Given the description of an element on the screen output the (x, y) to click on. 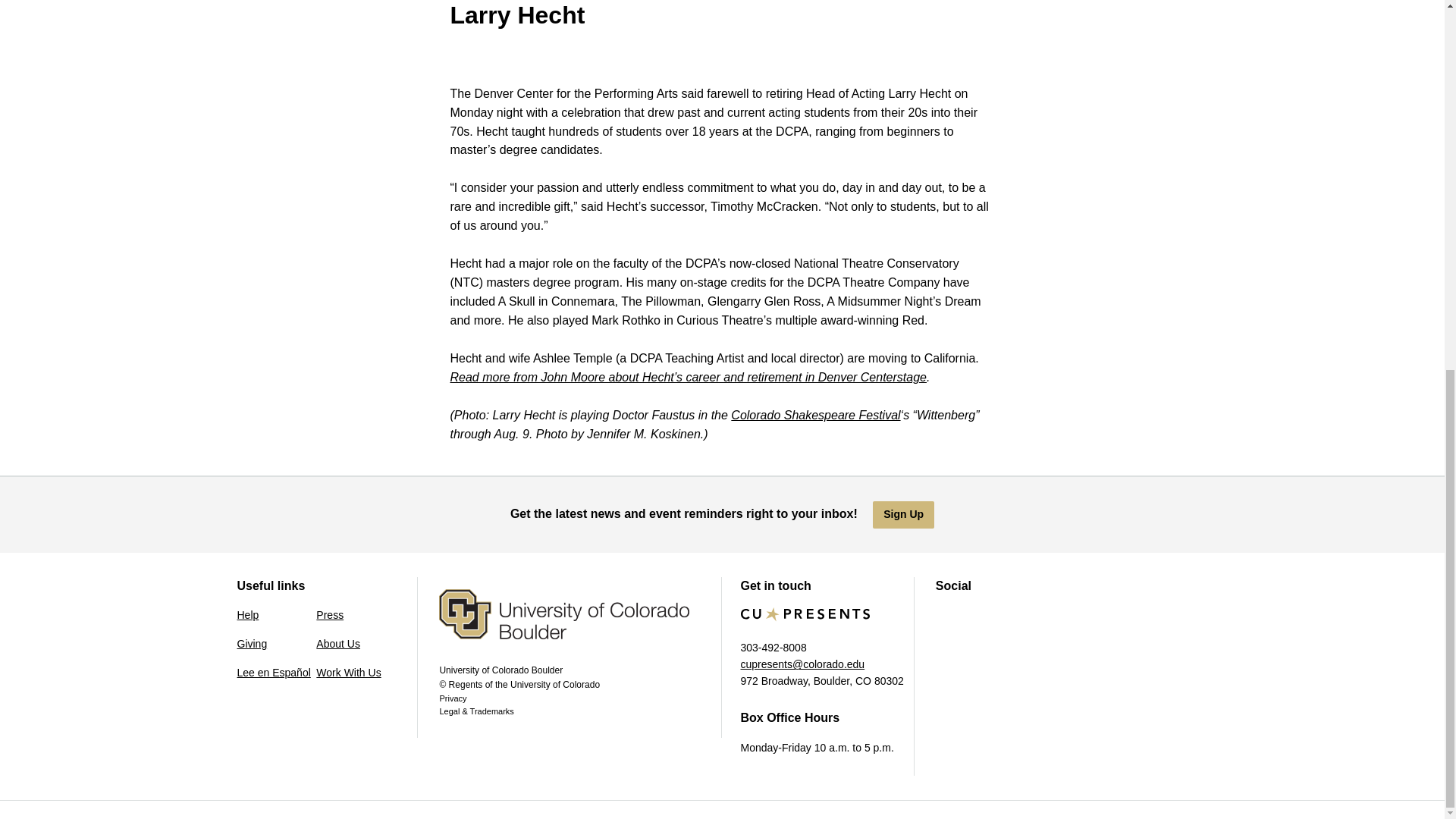
Facebook (947, 618)
Instagram (979, 618)
Denver Centerstage Hecht Retirement (687, 377)
University of Colorado Boulder (579, 626)
YouTube (1011, 618)
